Given the description of an element on the screen output the (x, y) to click on. 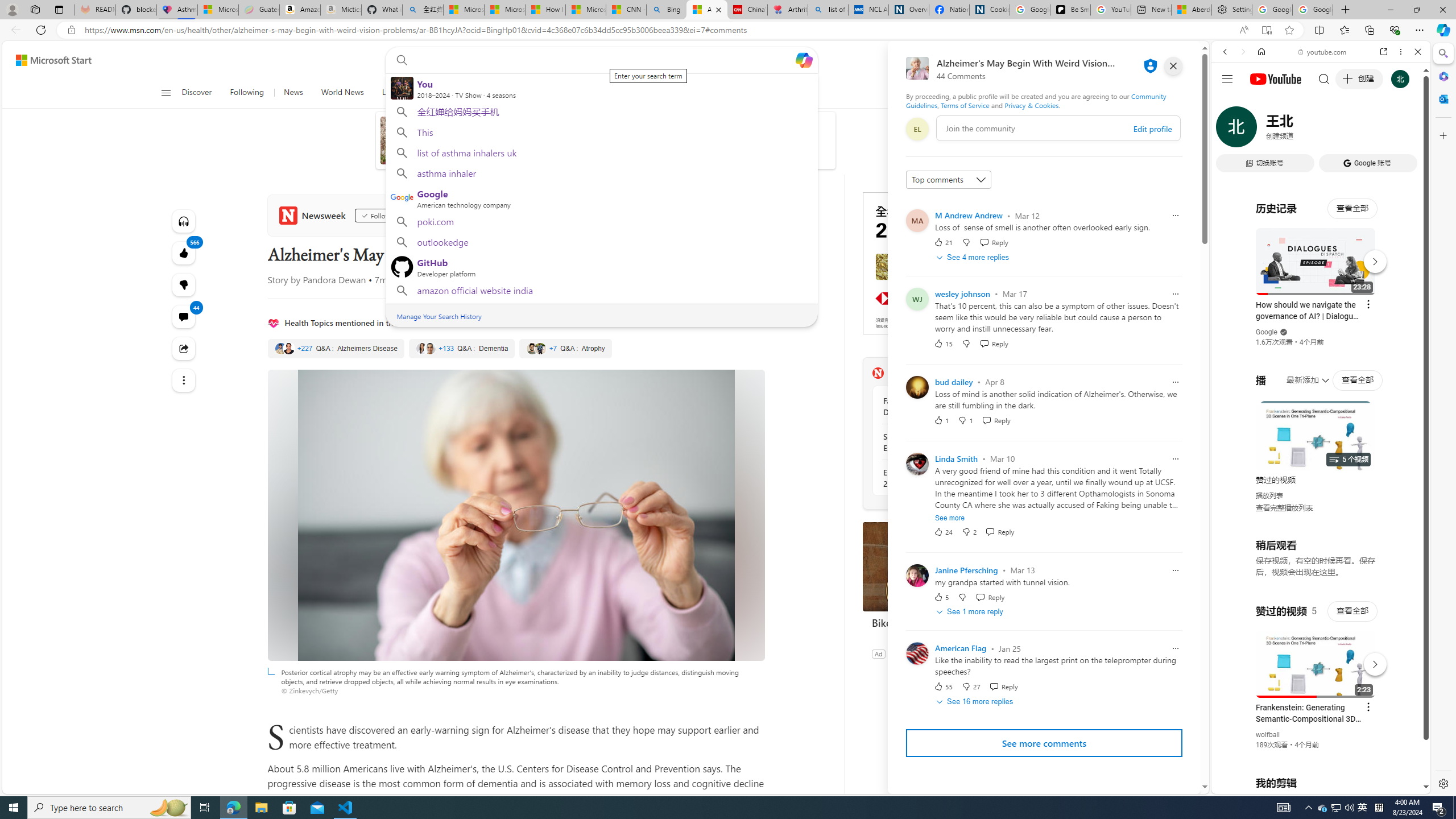
Asthma Inhalers: Names and Types (176, 9)
Profile Picture (916, 653)
Politics (572, 92)
wolfball (1268, 734)
Skip to footer (46, 59)
Go to publisher's site (740, 215)
15 Like (942, 342)
Music (1320, 309)
